Given the description of an element on the screen output the (x, y) to click on. 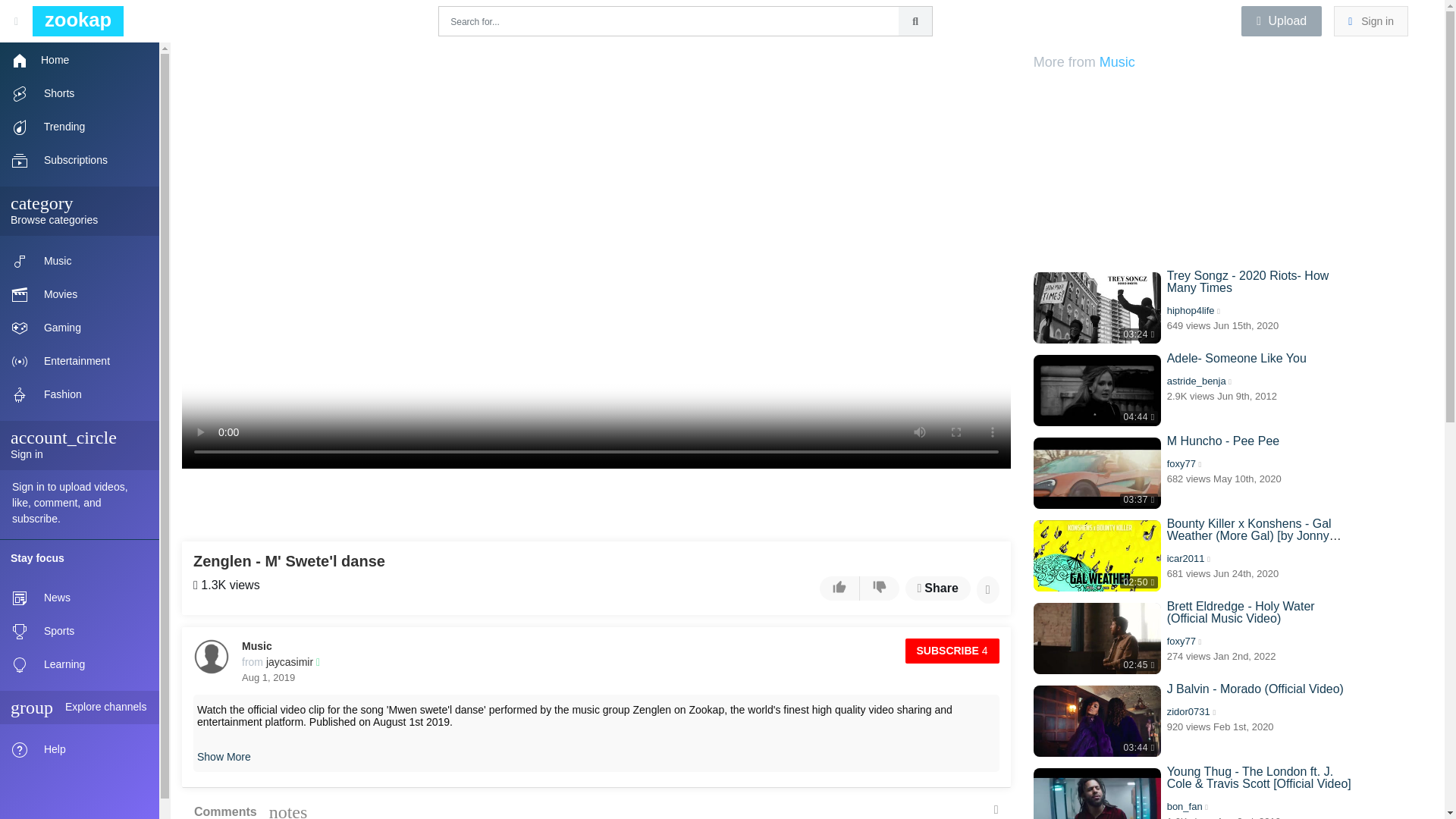
Subscriptions (79, 160)
Fashion (79, 394)
News (79, 598)
zookap (73, 20)
Sports (79, 631)
I like this (839, 587)
Gaming (79, 328)
zookap (73, 21)
keywords (914, 21)
from jaycasimir (280, 662)
